Given the description of an element on the screen output the (x, y) to click on. 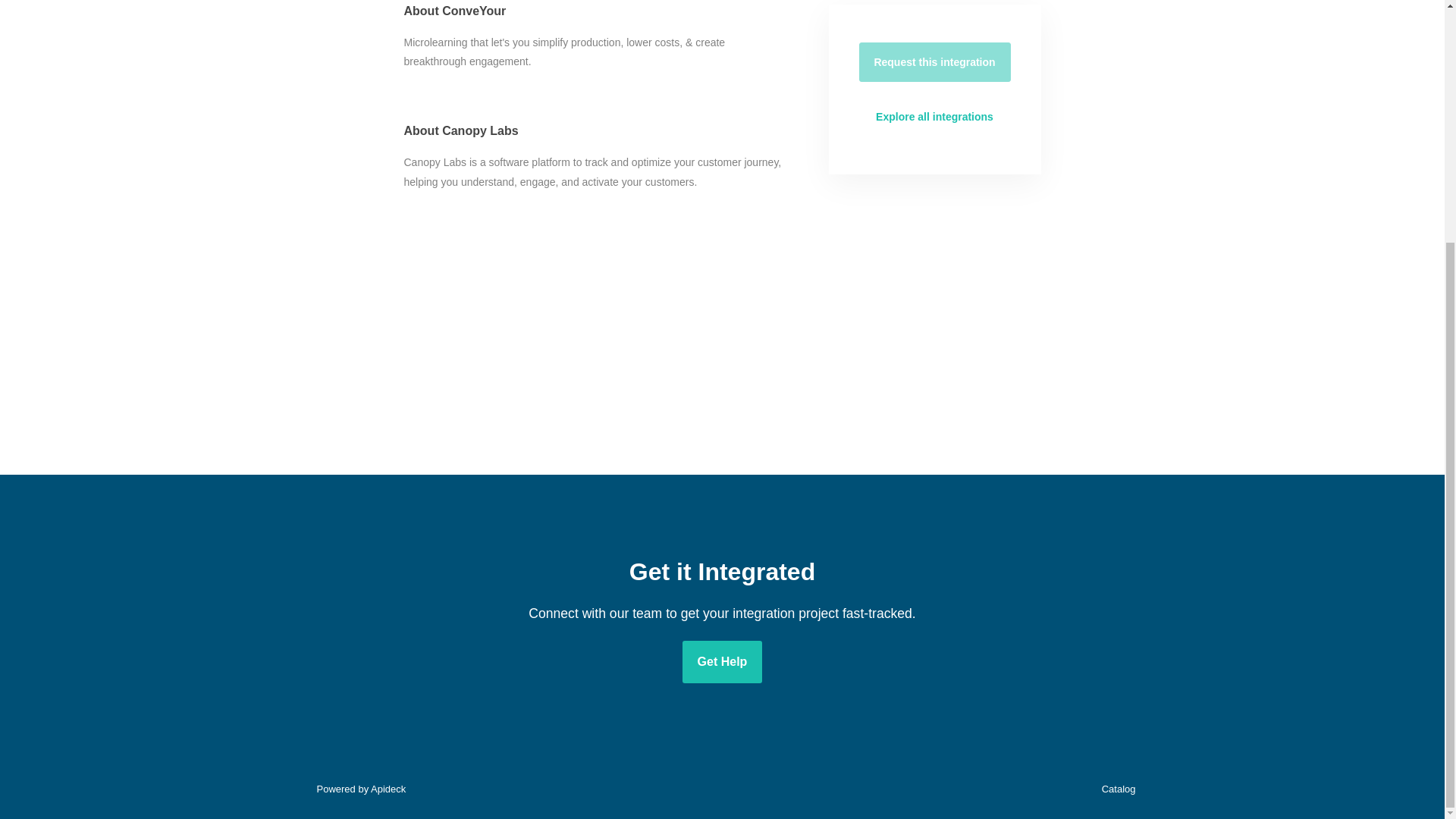
Powered by Apideck (356, 789)
Explore all integrations (934, 116)
Get Help (722, 661)
Catalog (1115, 789)
Request this integration (934, 61)
